Given the description of an element on the screen output the (x, y) to click on. 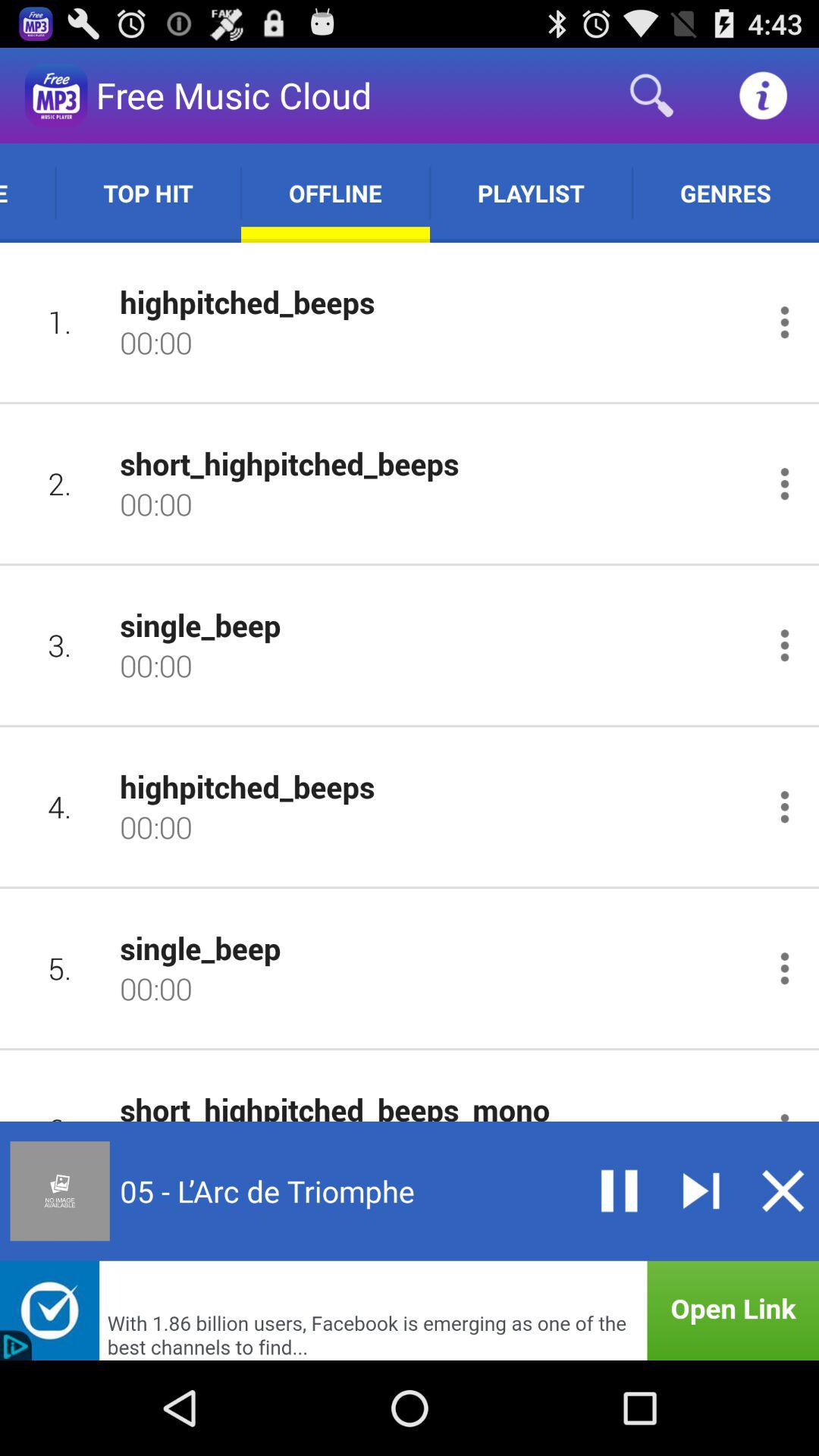
turn on the icon above the genres icon (763, 95)
